Given the description of an element on the screen output the (x, y) to click on. 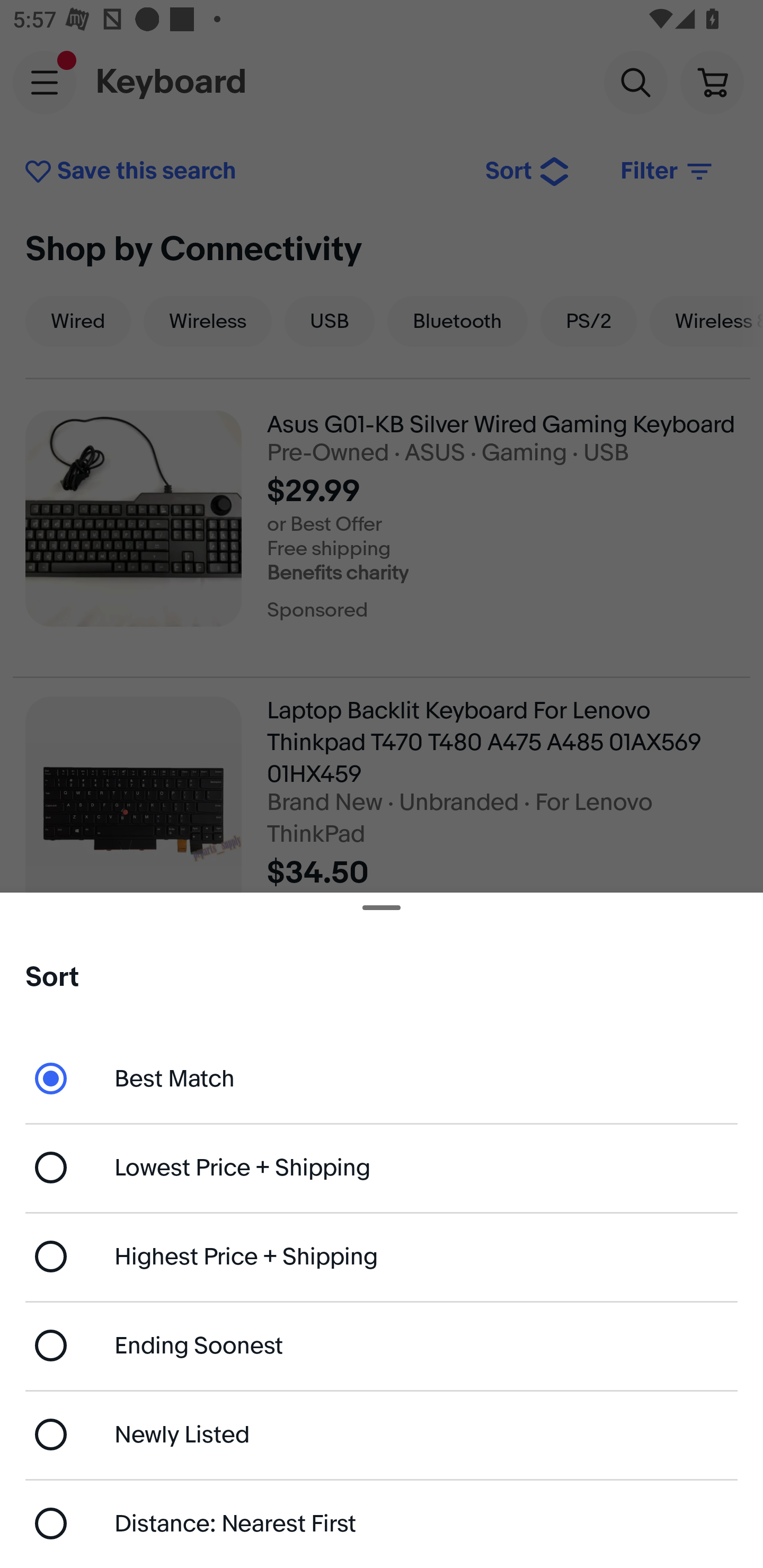
Best Match - currently selected Best Match (381, 1077)
Lowest Price + Shipping (381, 1167)
Highest Price + Shipping (381, 1256)
Ending Soonest (381, 1345)
Newly Listed (381, 1433)
Distance: Nearest First (381, 1523)
